Given the description of an element on the screen output the (x, y) to click on. 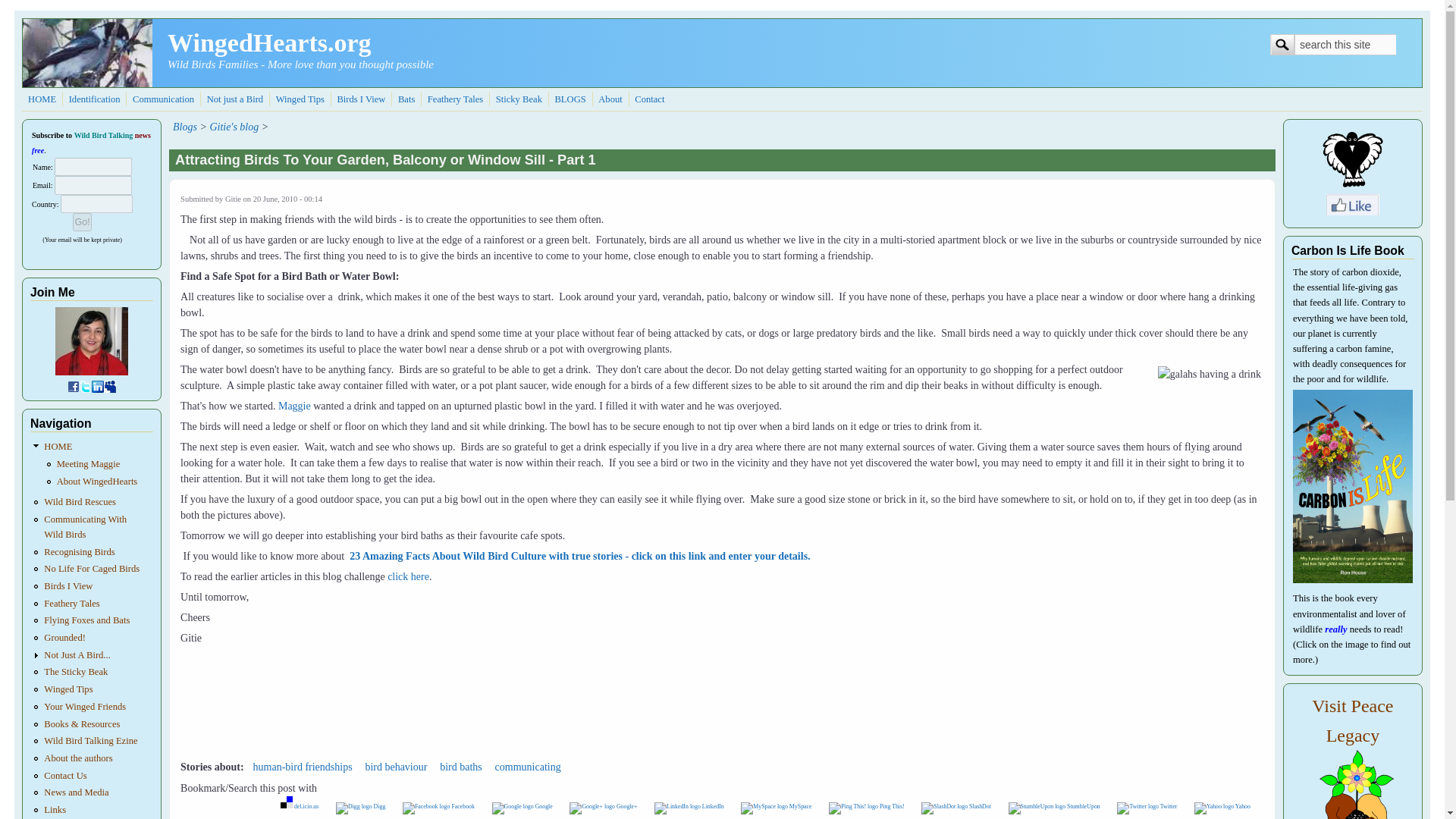
LinkedIn (688, 806)
Identification (94, 99)
Blogs (569, 99)
Bookmark this post on del.icio.us (299, 806)
Introducing some of Australia's native bird species (360, 99)
Feathery Tales (455, 99)
WingedHearts.org (269, 42)
Sticky Beak (518, 99)
BLOGS (569, 99)
